Given the description of an element on the screen output the (x, y) to click on. 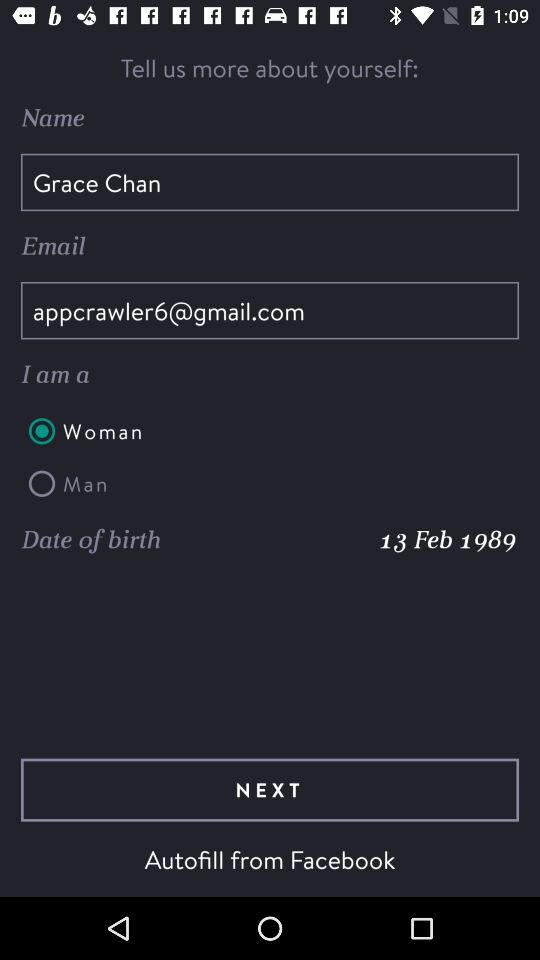
click the grace chan (269, 182)
